Given the description of an element on the screen output the (x, y) to click on. 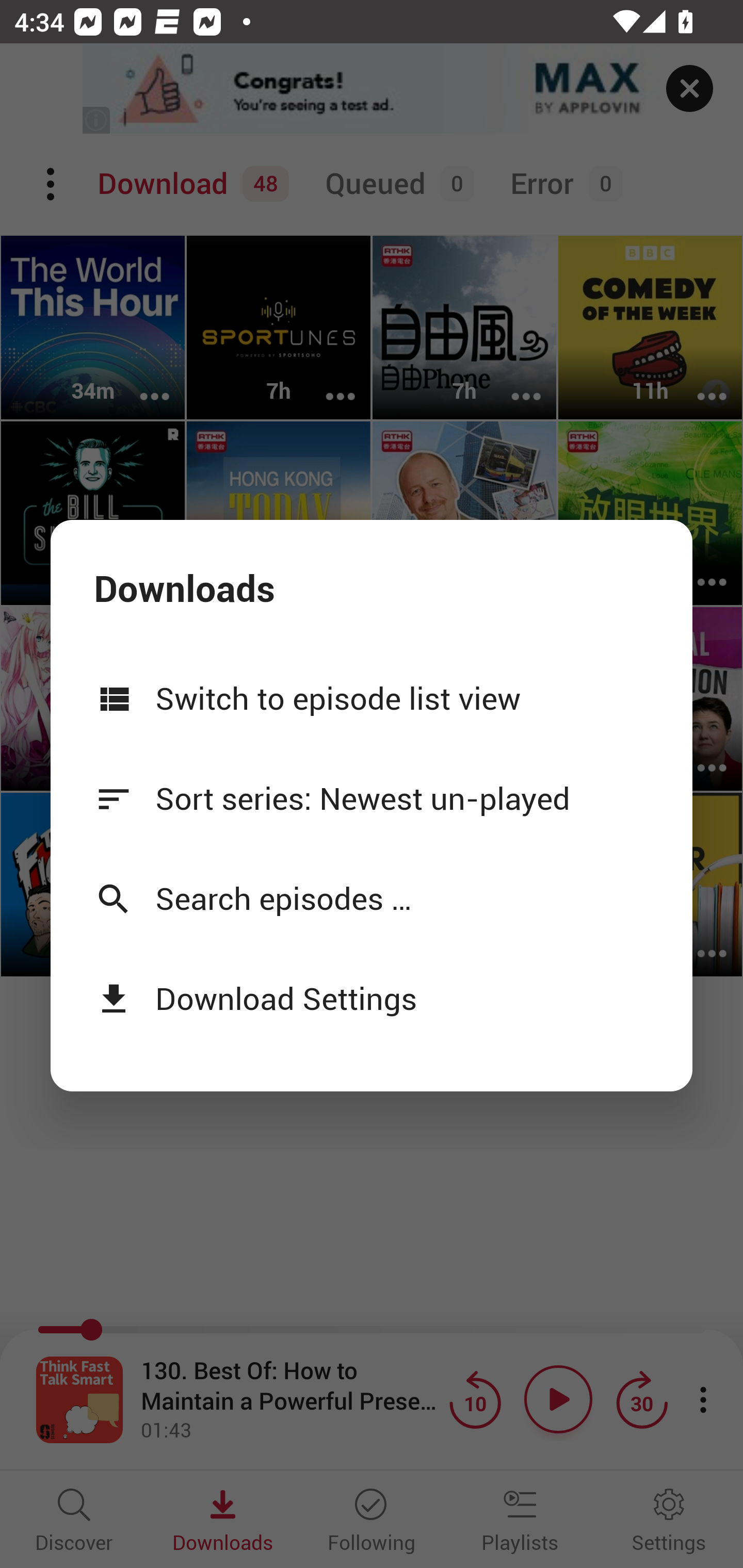
Switch to episode list view (371, 697)
Sort series: Newest un-played (371, 797)
Search episodes … (371, 898)
Download Settings (371, 997)
